Given the description of an element on the screen output the (x, y) to click on. 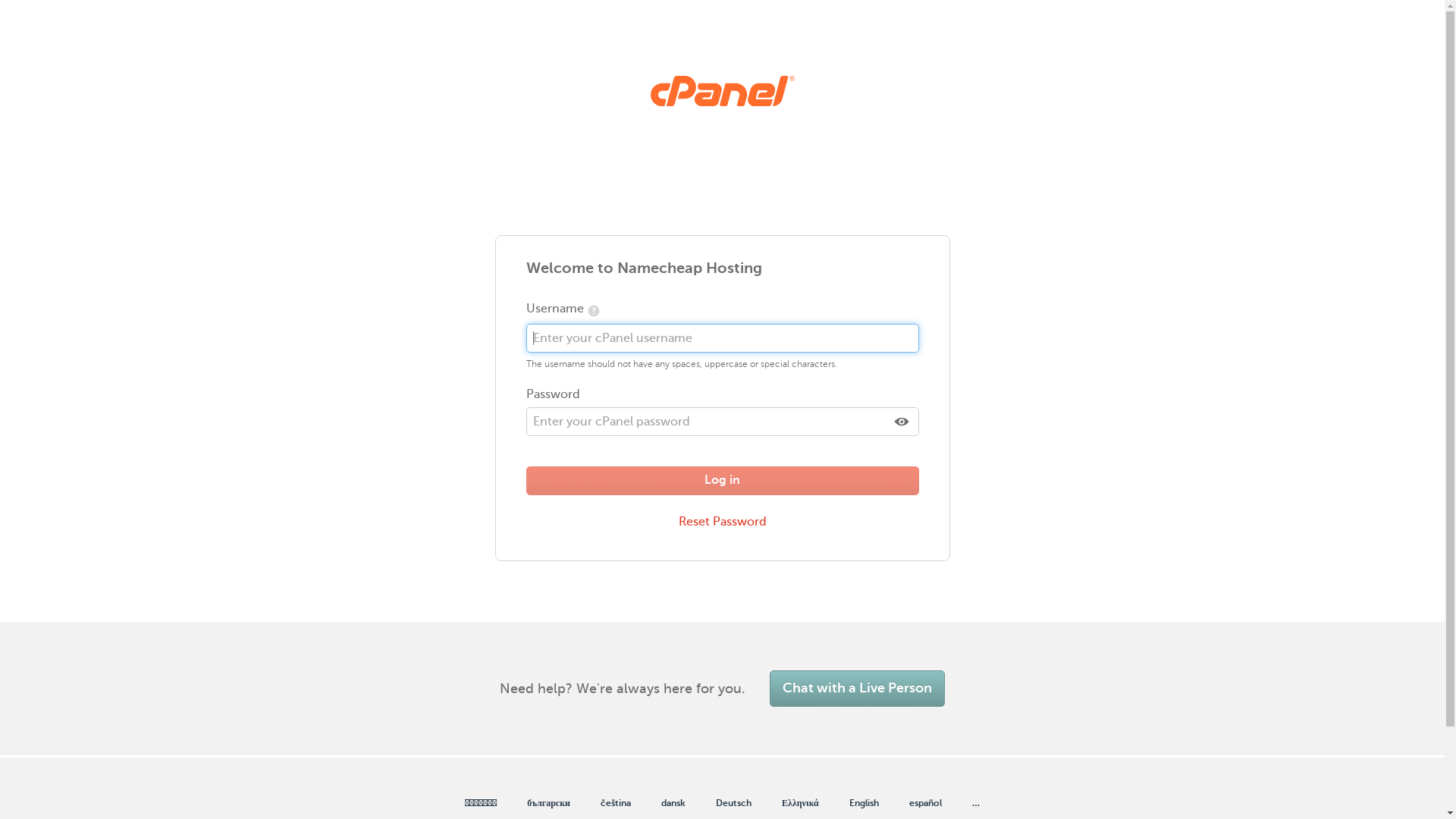
Deutsch Element type: text (733, 803)
English Element type: text (863, 803)
Chat with a Live Person Element type: text (856, 688)
dansk Element type: text (673, 803)
Reset Password Element type: text (722, 521)
Log in Element type: text (722, 480)
